Given the description of an element on the screen output the (x, y) to click on. 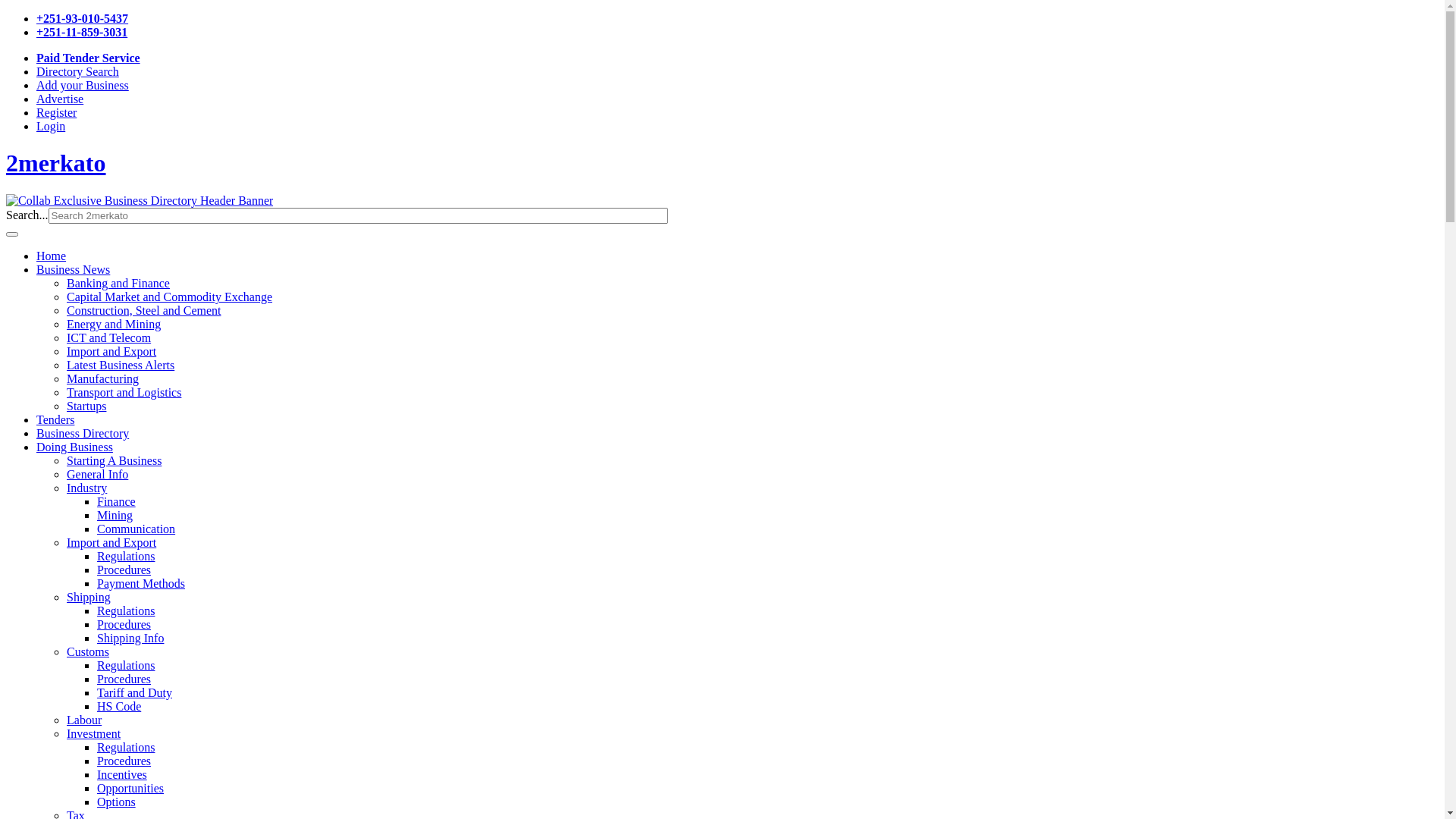
Finance Element type: text (116, 501)
Regulations Element type: text (125, 610)
Options Element type: text (116, 801)
Home Element type: text (50, 255)
Industry Element type: text (86, 487)
Investment Element type: text (93, 733)
Business Directory Element type: text (82, 432)
Regulations Element type: text (125, 555)
Procedures Element type: text (123, 678)
Construction, Steel and Cement Element type: text (143, 310)
Add your Business Element type: text (82, 84)
Manufacturing Element type: text (102, 378)
ICT and Telecom Element type: text (108, 337)
Latest Business Alerts Element type: text (120, 364)
Customs Element type: text (87, 651)
Tenders Element type: text (55, 419)
General Info Element type: text (97, 473)
+251-11-859-3031 Element type: text (81, 31)
HS Code Element type: text (119, 705)
Opportunities Element type: text (130, 787)
Import and Export Element type: text (111, 542)
Advertise Element type: text (59, 98)
Mining Element type: text (114, 514)
Startups Element type: text (86, 405)
Business News Element type: text (72, 269)
Shipping Element type: text (88, 596)
Transport and Logistics Element type: text (123, 391)
Energy and Mining Element type: text (113, 323)
Procedures Element type: text (123, 624)
Directory Search Element type: text (77, 71)
+251-93-010-5437 Element type: text (82, 18)
Collab Exclusive Business Directory Header Banner Element type: hover (139, 200)
Register Element type: text (56, 112)
Procedures Element type: text (123, 760)
Import and Export Element type: text (111, 351)
Shipping Info Element type: text (130, 637)
Starting A Business Element type: text (113, 460)
Regulations Element type: text (125, 746)
Procedures Element type: text (123, 569)
Labour Element type: text (83, 719)
Login Element type: text (50, 125)
Regulations Element type: text (125, 664)
Communication Element type: text (136, 528)
2merkato Element type: text (56, 162)
Paid Tender Service Element type: text (88, 57)
Banking and Finance Element type: text (117, 282)
Capital Market and Commodity Exchange Element type: text (169, 296)
Payment Methods Element type: text (141, 583)
Incentives Element type: text (122, 774)
Tariff and Duty Element type: text (134, 692)
Doing Business Element type: text (74, 446)
